Given the description of an element on the screen output the (x, y) to click on. 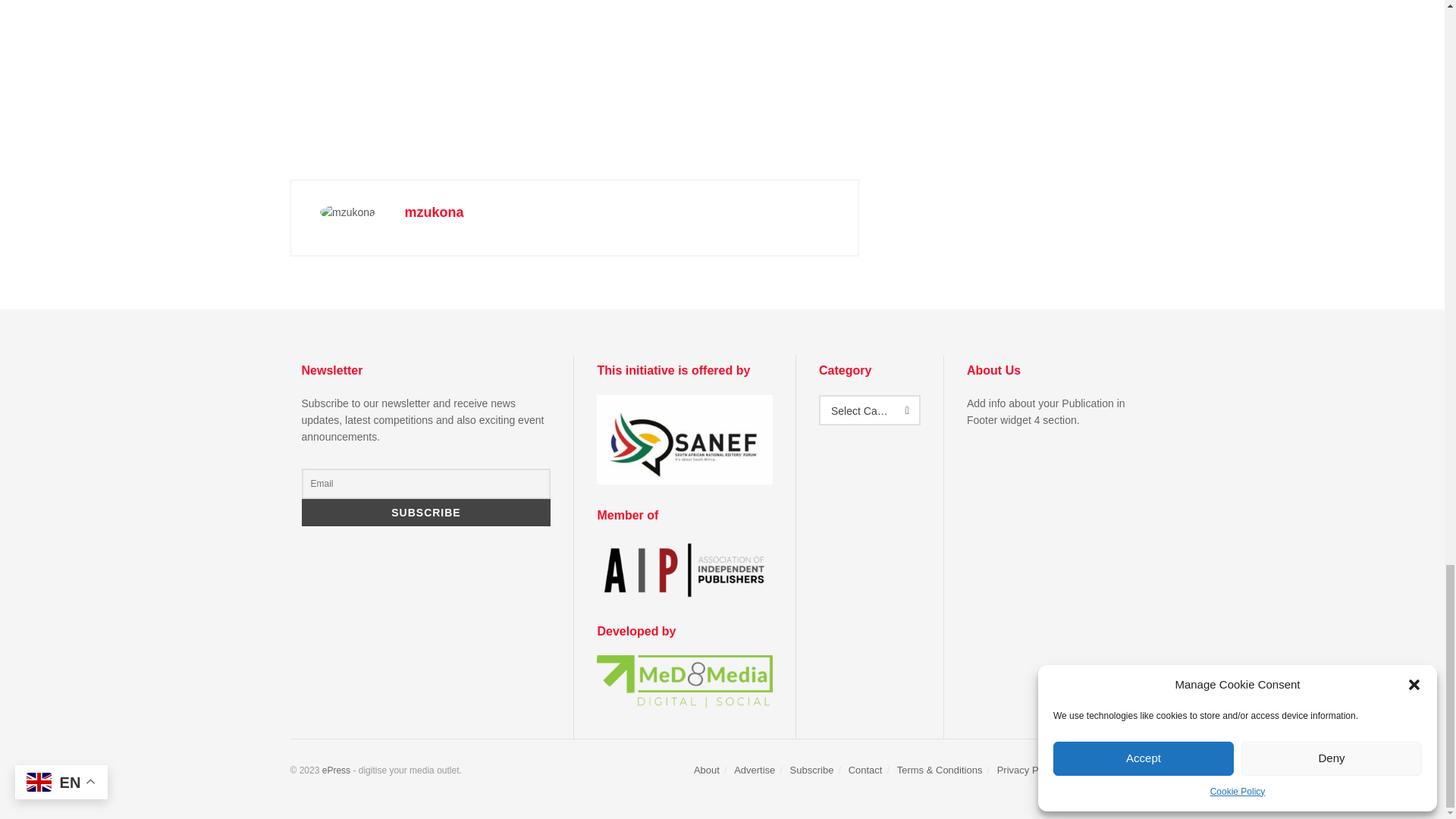
Newspaper portal (335, 769)
Subscribe (426, 512)
Developed by (684, 681)
